Given the description of an element on the screen output the (x, y) to click on. 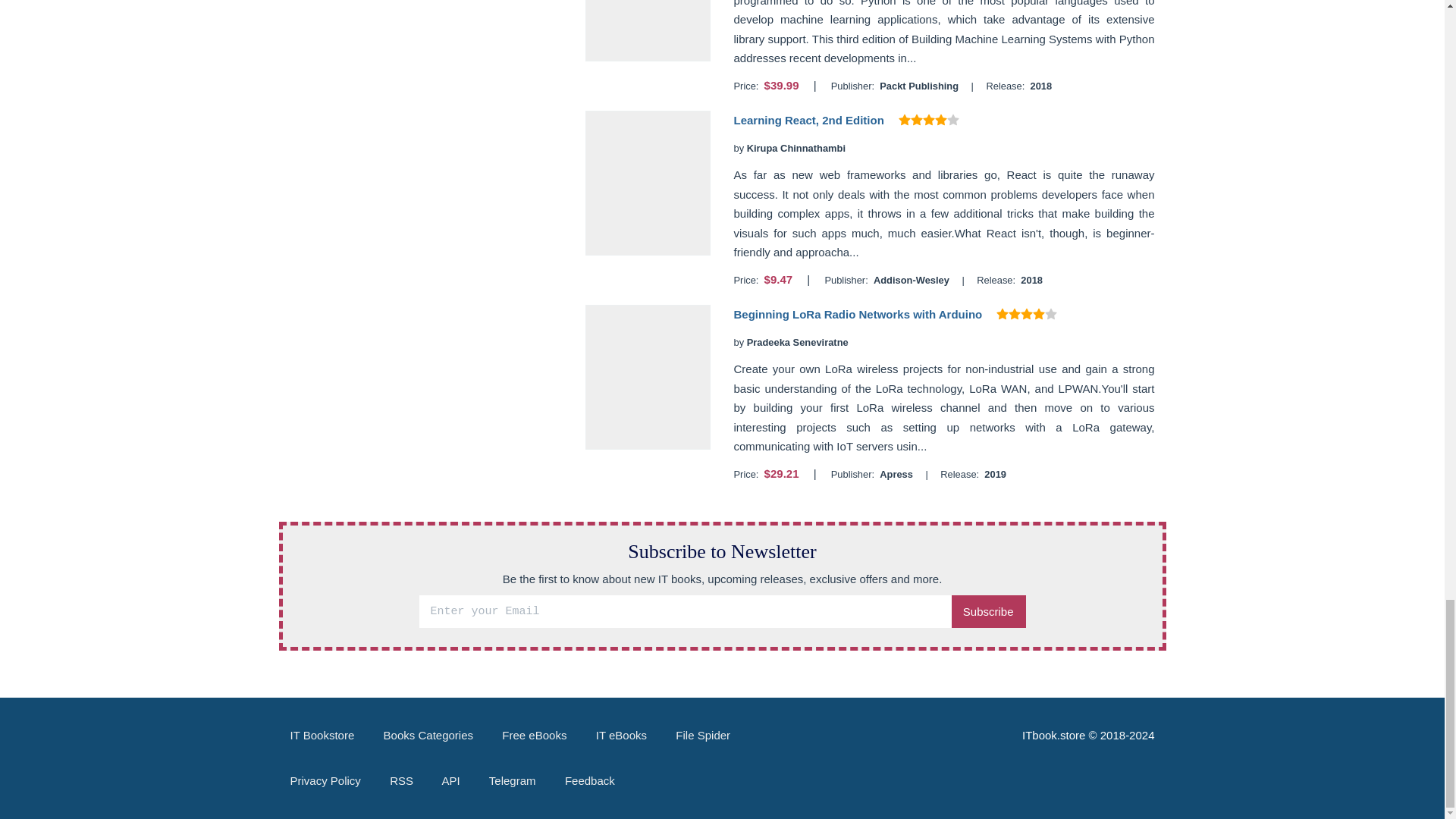
Learning React, 2nd Edition (808, 119)
Beginning LoRa Radio Networks with Arduino (857, 314)
